Given the description of an element on the screen output the (x, y) to click on. 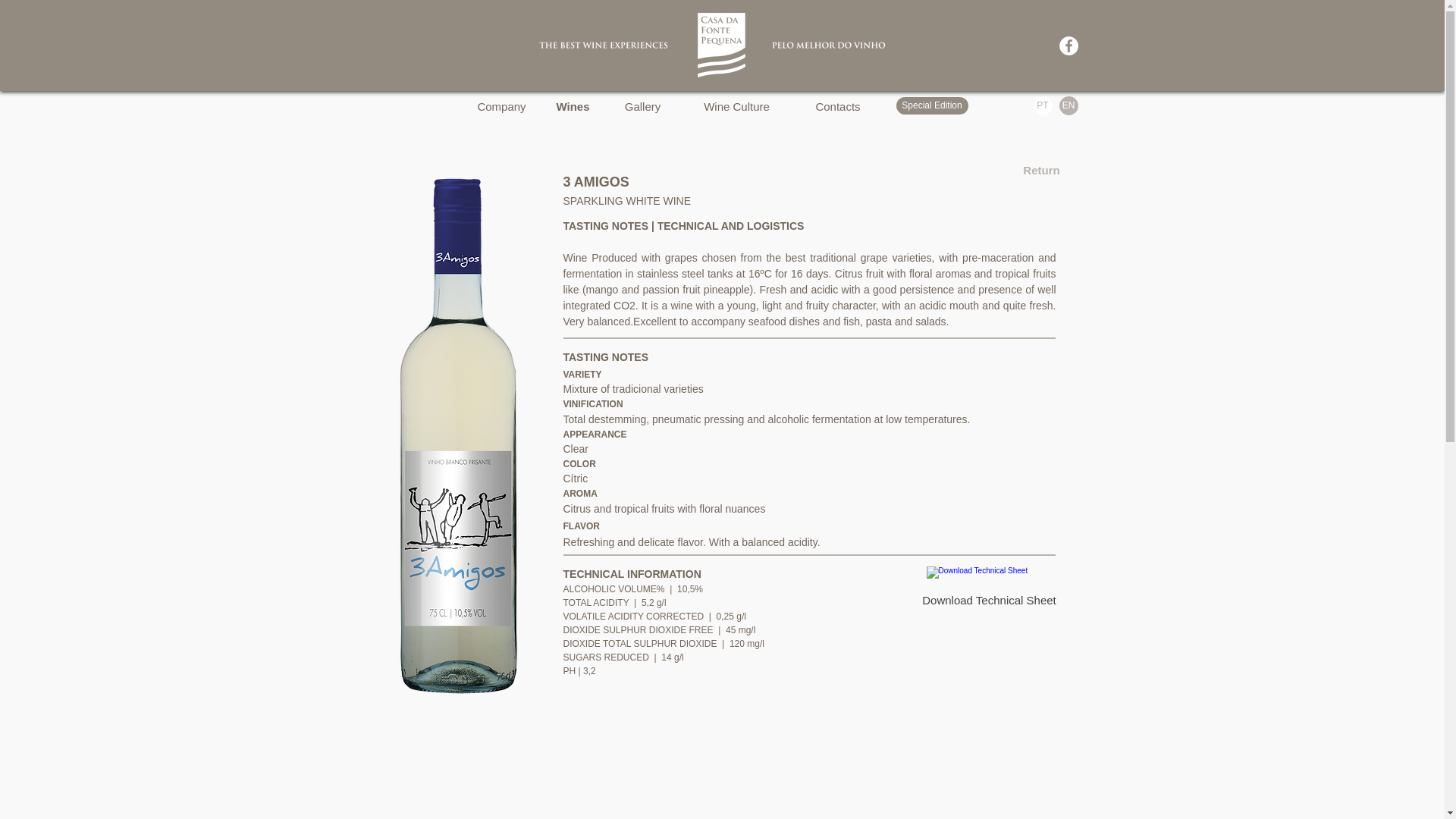
Contacts (836, 105)
Wine Culture (735, 105)
Return (1040, 169)
Special Edition (932, 105)
Company (500, 105)
Gallery (642, 105)
PT (1041, 105)
Wines (572, 105)
Download Technical Sheet (988, 587)
EN (1067, 105)
Download Technical Sheet (988, 587)
